Given the description of an element on the screen output the (x, y) to click on. 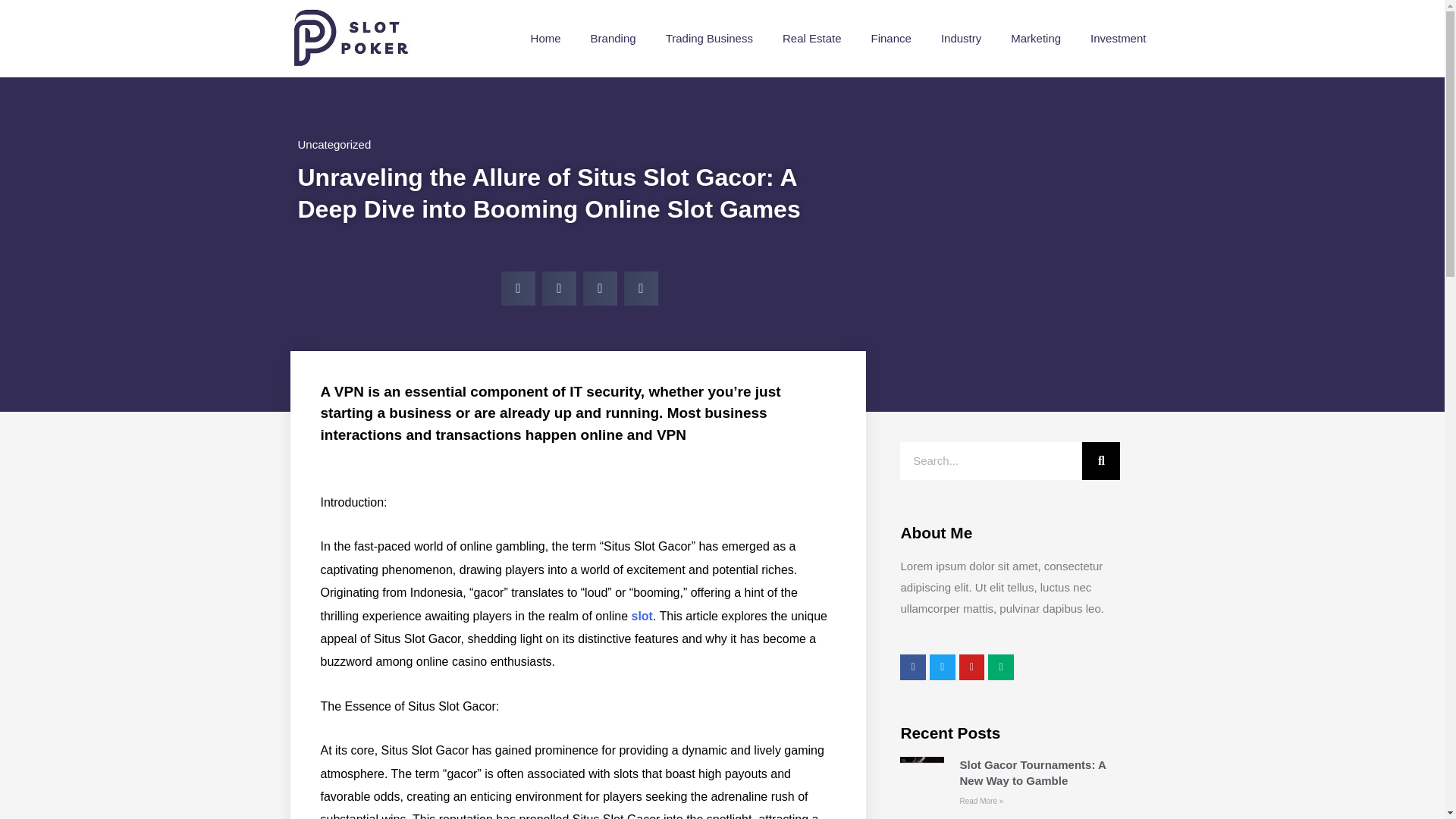
Search (1100, 460)
Real Estate (812, 38)
slot (641, 615)
Search (990, 460)
Trading Business (709, 38)
Slot Gacor Tournaments: A New Way to Gamble (1032, 772)
Uncategorized (334, 144)
Investment (1117, 38)
